Given the description of an element on the screen output the (x, y) to click on. 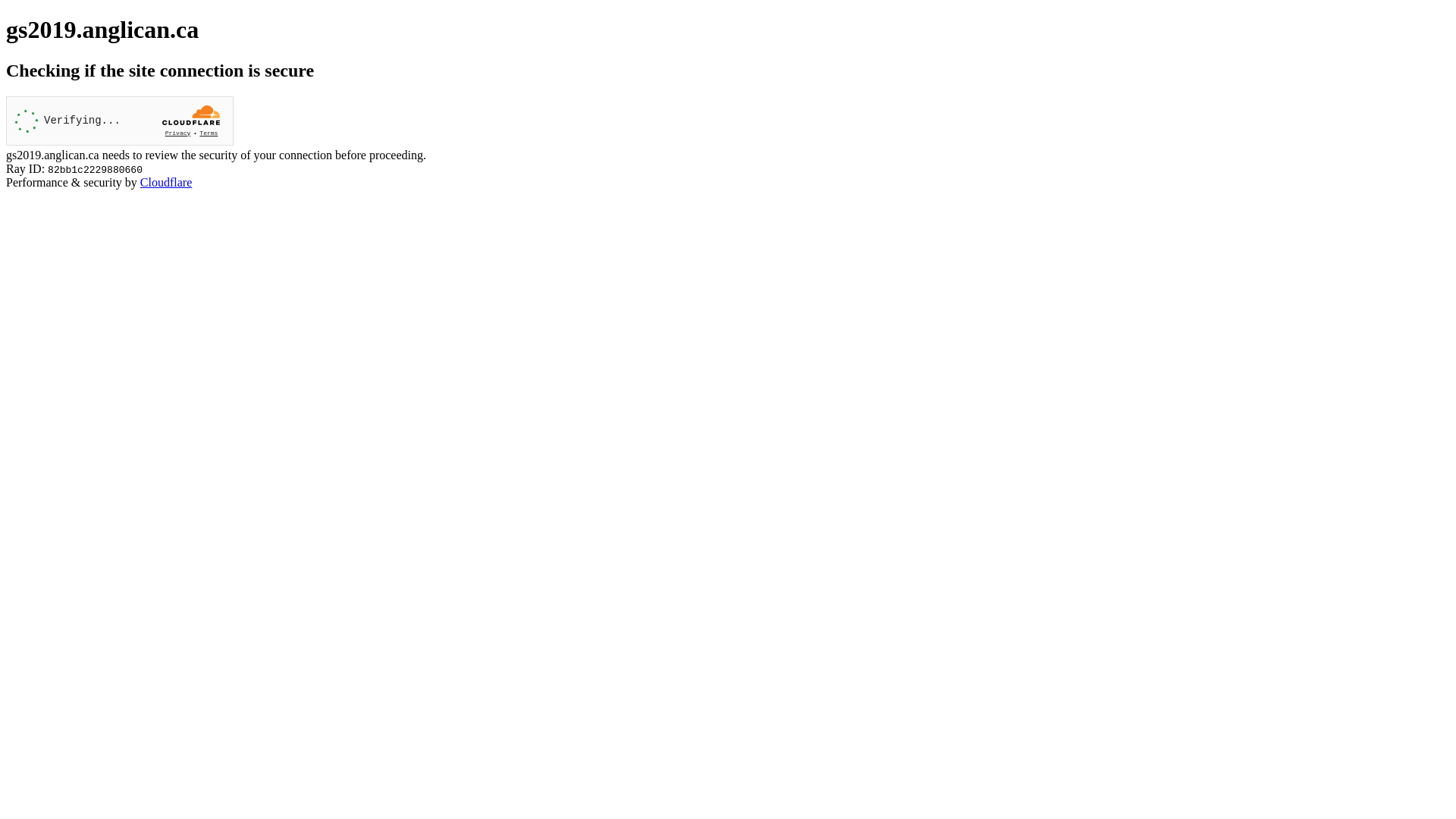
Widget containing a Cloudflare security challenge Element type: hover (119, 120)
Cloudflare Element type: text (165, 181)
